Given the description of an element on the screen output the (x, y) to click on. 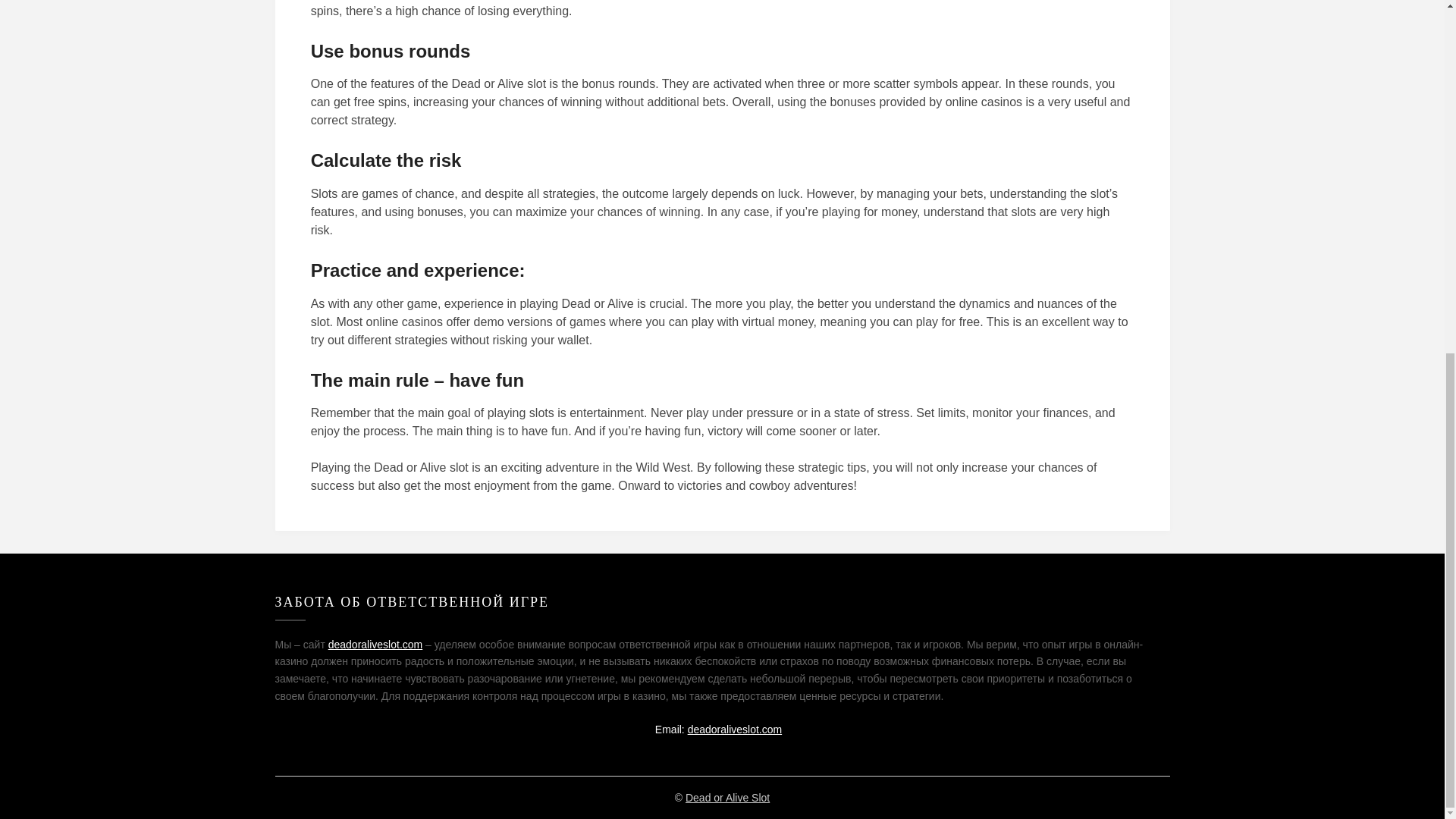
deadoraliveslot.com (735, 729)
Dead or Alive Slot (727, 797)
deadoraliveslot.com (376, 644)
